Given the description of an element on the screen output the (x, y) to click on. 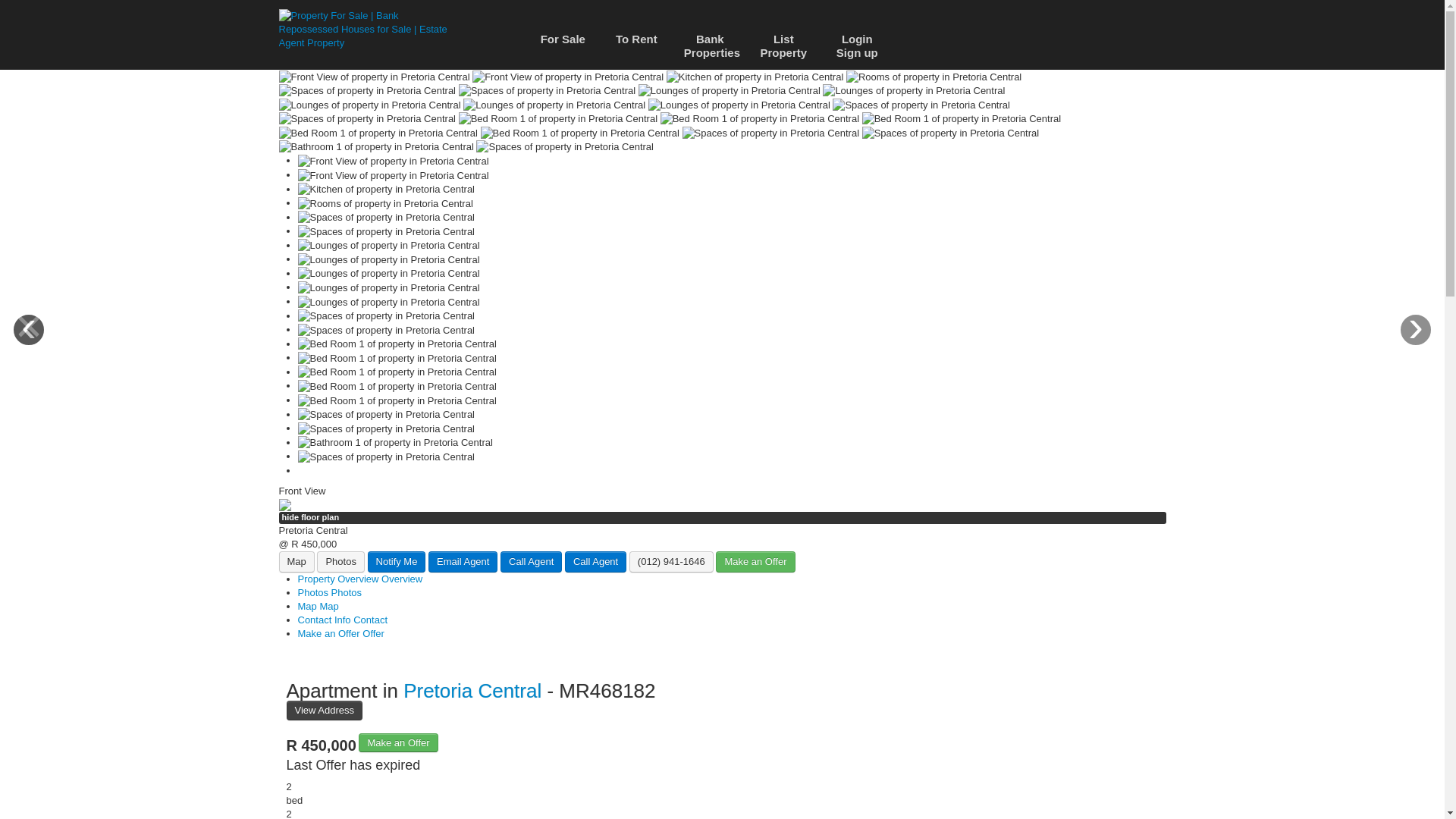
Bank Properties (709, 47)
Map Map (317, 605)
Spaces of property in Pretoria Central (368, 90)
Lounges of property in Pretoria Central (554, 105)
Email Agent (462, 561)
Property Overview Overview (359, 578)
Map (296, 561)
Photos (340, 561)
Rooms of property in Pretoria Central (933, 77)
Pretoria Central (472, 690)
